Given the description of an element on the screen output the (x, y) to click on. 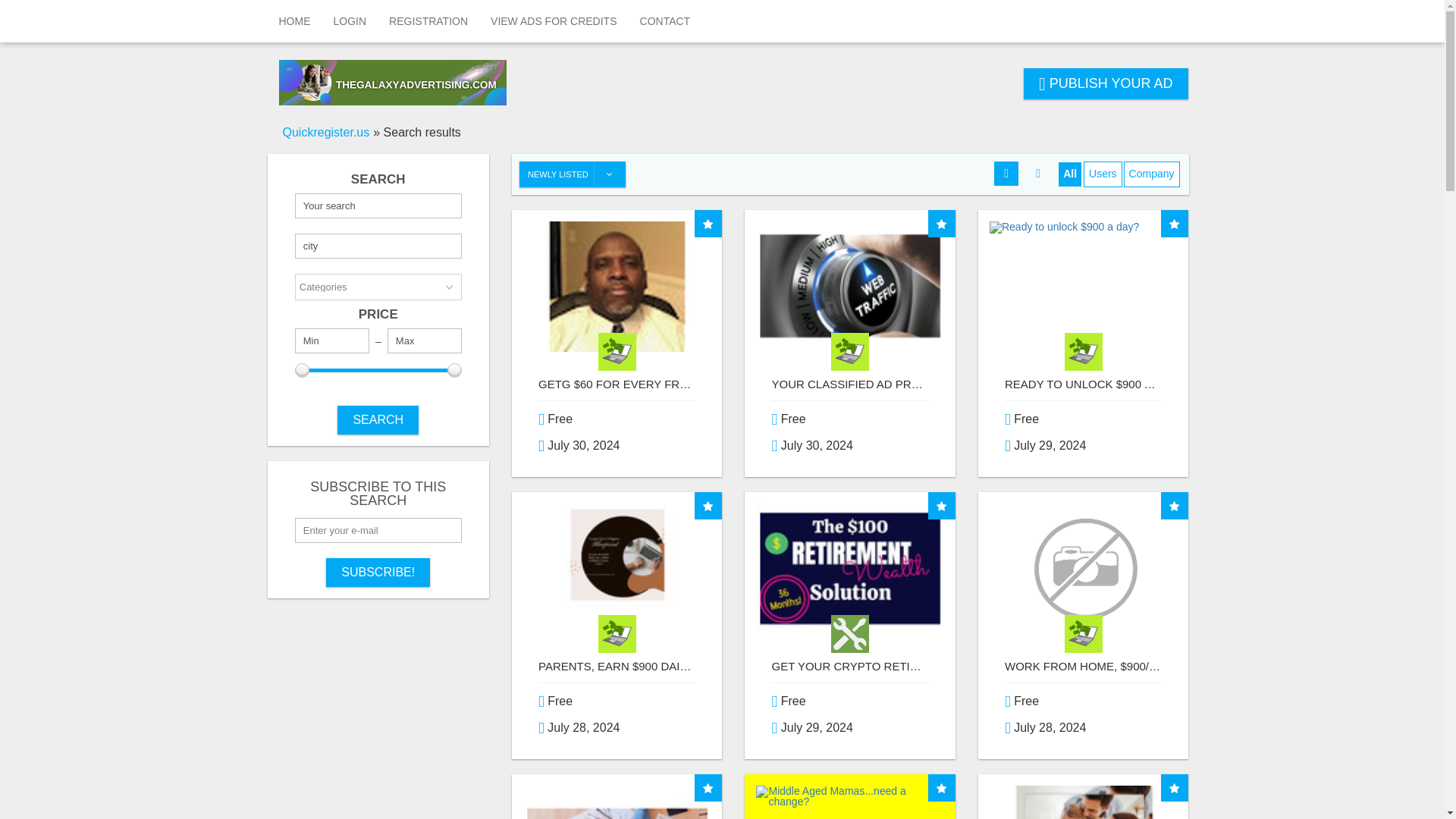
CONTACT (664, 21)
Quickregister.us (325, 132)
LOGIN (349, 21)
NEWLY LISTED (572, 174)
VIEW ADS FOR CREDITS (553, 21)
SUBSCRIBE! (377, 572)
SEARCH (378, 419)
REGISTRATION (428, 21)
PUBLISH YOUR AD (1105, 83)
HOME (293, 21)
